Given the description of an element on the screen output the (x, y) to click on. 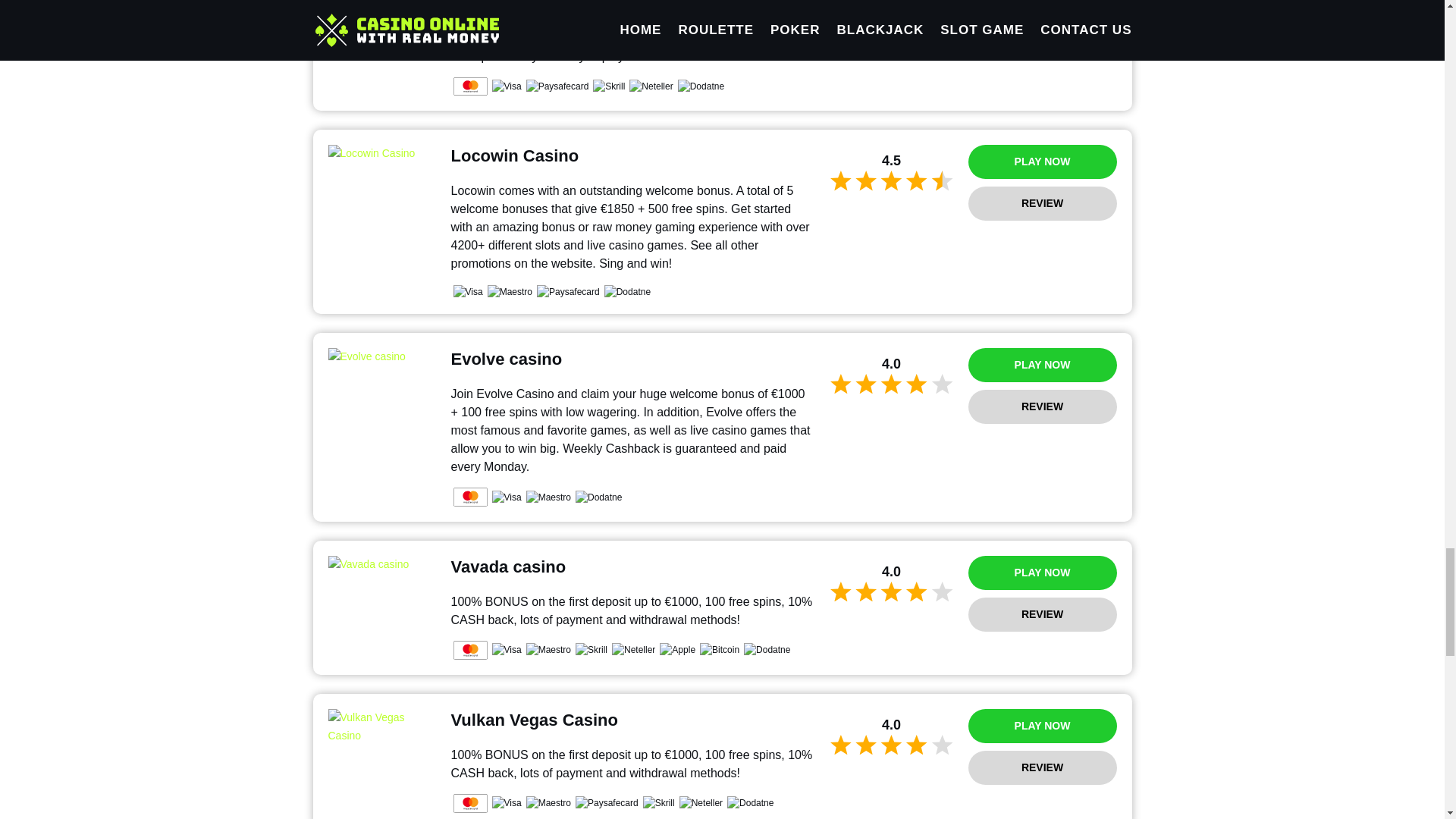
REVIEW (1042, 203)
REVIEW (1042, 15)
PLAY NOW (1042, 365)
REVIEW (1042, 406)
PLAY NOW (1042, 161)
